Given the description of an element on the screen output the (x, y) to click on. 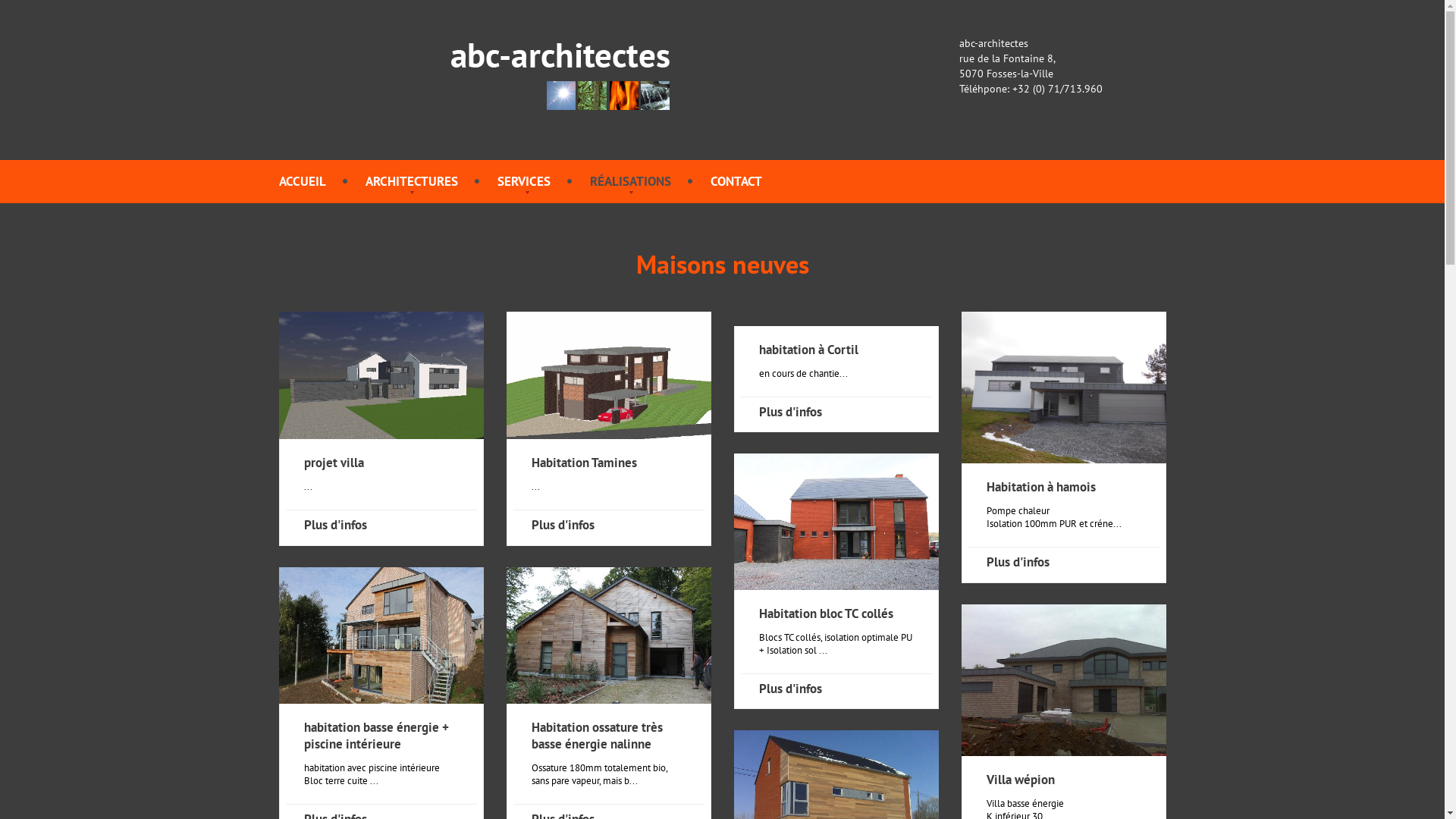
Plus d'infos Element type: text (334, 524)
ARCHITECTURES Element type: text (411, 180)
CONTACT Element type: text (735, 180)
Plus d'infos Element type: text (789, 688)
Plus d'infos Element type: text (1016, 561)
Plus d'infos Element type: text (789, 411)
ACCUEIL Element type: text (302, 180)
SERVICES Element type: text (523, 180)
Plus d'infos Element type: text (561, 524)
